Given the description of an element on the screen output the (x, y) to click on. 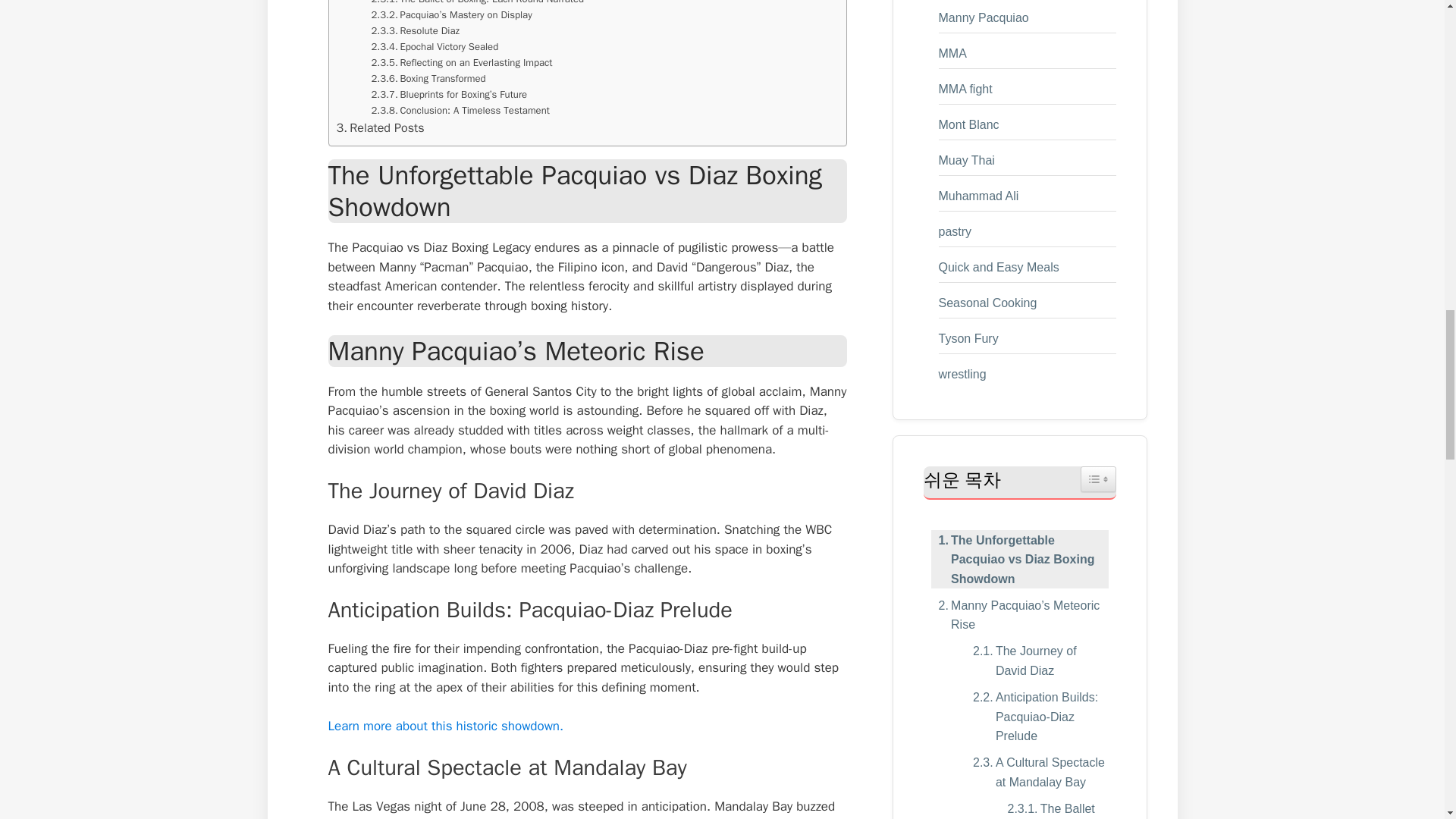
Resolute Diaz (415, 31)
Conclusion: A Timeless Testament (460, 110)
Reflecting on an Everlasting Impact (462, 63)
The Ballet of Boxing: Each Round Narrated (478, 3)
Epochal Victory Sealed (435, 47)
Learn more about this historic showdown. (445, 725)
Related Posts (380, 127)
The Ballet of Boxing: Each Round Narrated (478, 3)
Boxing Transformed (428, 78)
Reflecting on an Everlasting Impact (462, 63)
Epochal Victory Sealed (435, 47)
The Unforgettable Pacquiao vs Diaz Boxing Showdown (1019, 559)
Boxing Transformed (428, 78)
Resolute Diaz (415, 31)
Conclusion: A Timeless Testament (460, 110)
